Given the description of an element on the screen output the (x, y) to click on. 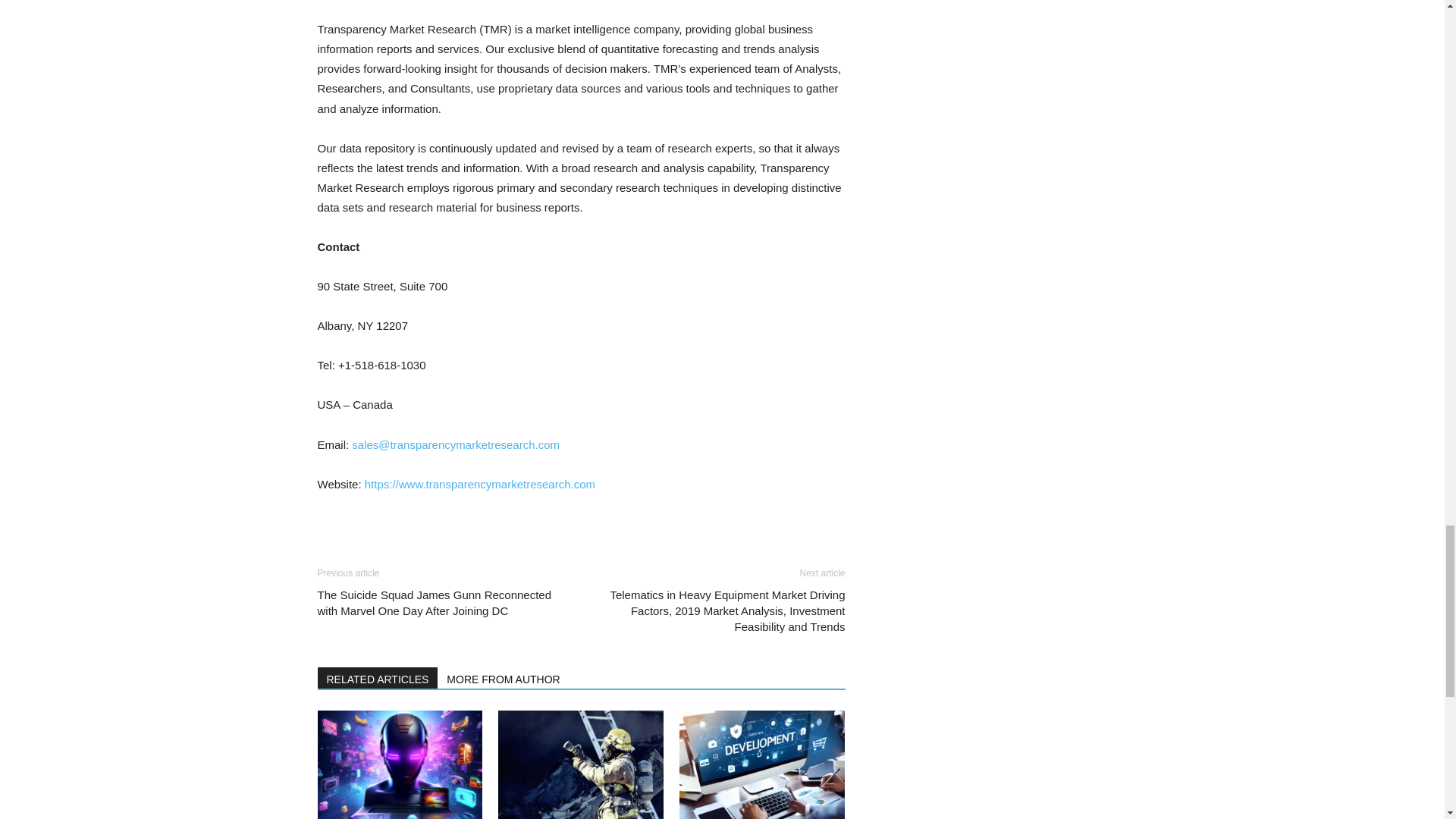
The Impact of AI and Machine Learning on Game Development (399, 764)
RELATED ARTICLES (377, 677)
MORE FROM AUTHOR (503, 677)
